Given the description of an element on the screen output the (x, y) to click on. 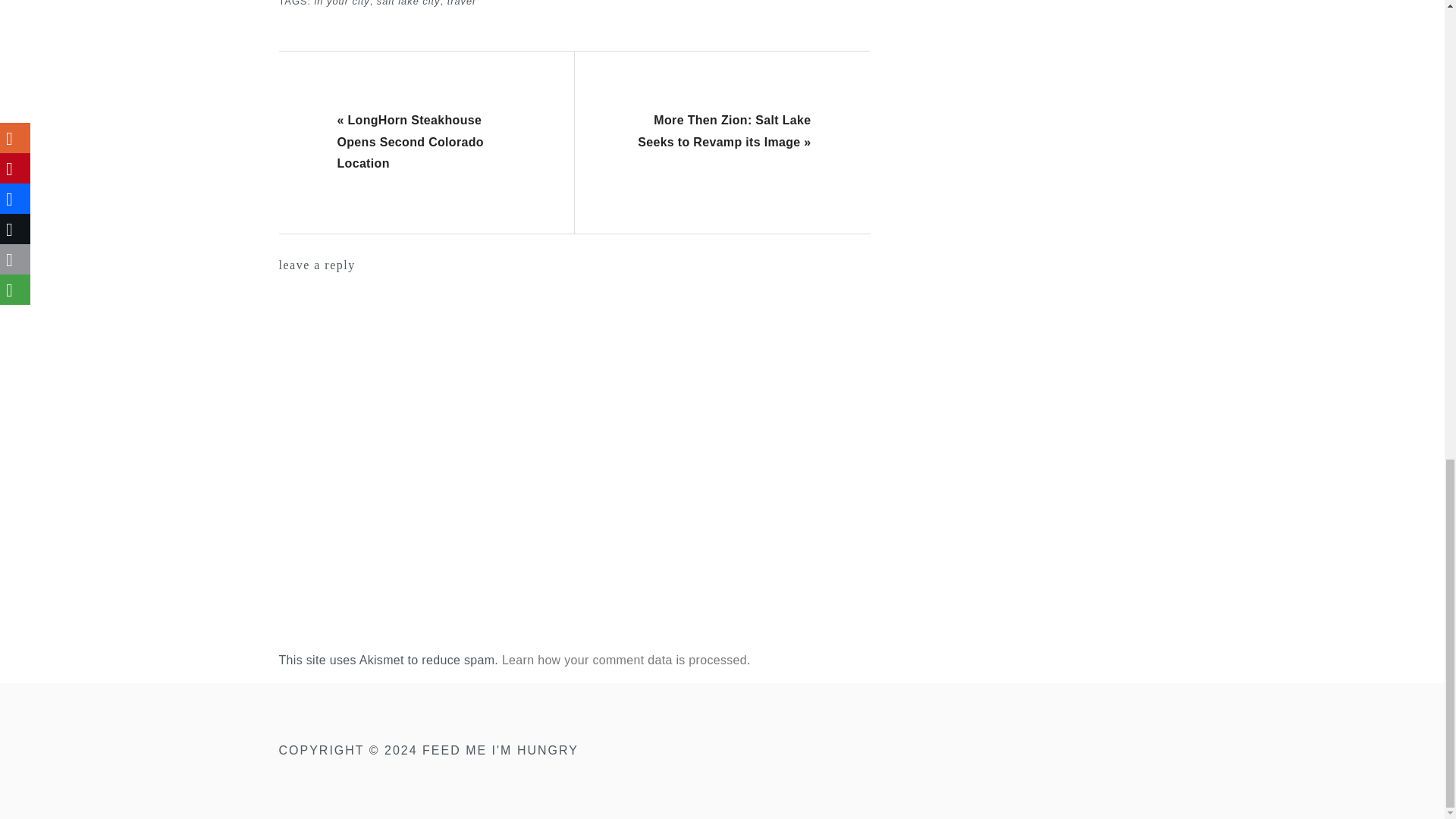
in your city (341, 3)
travel (461, 3)
Learn how your comment data is processed (624, 659)
salt lake city (409, 3)
